Given the description of an element on the screen output the (x, y) to click on. 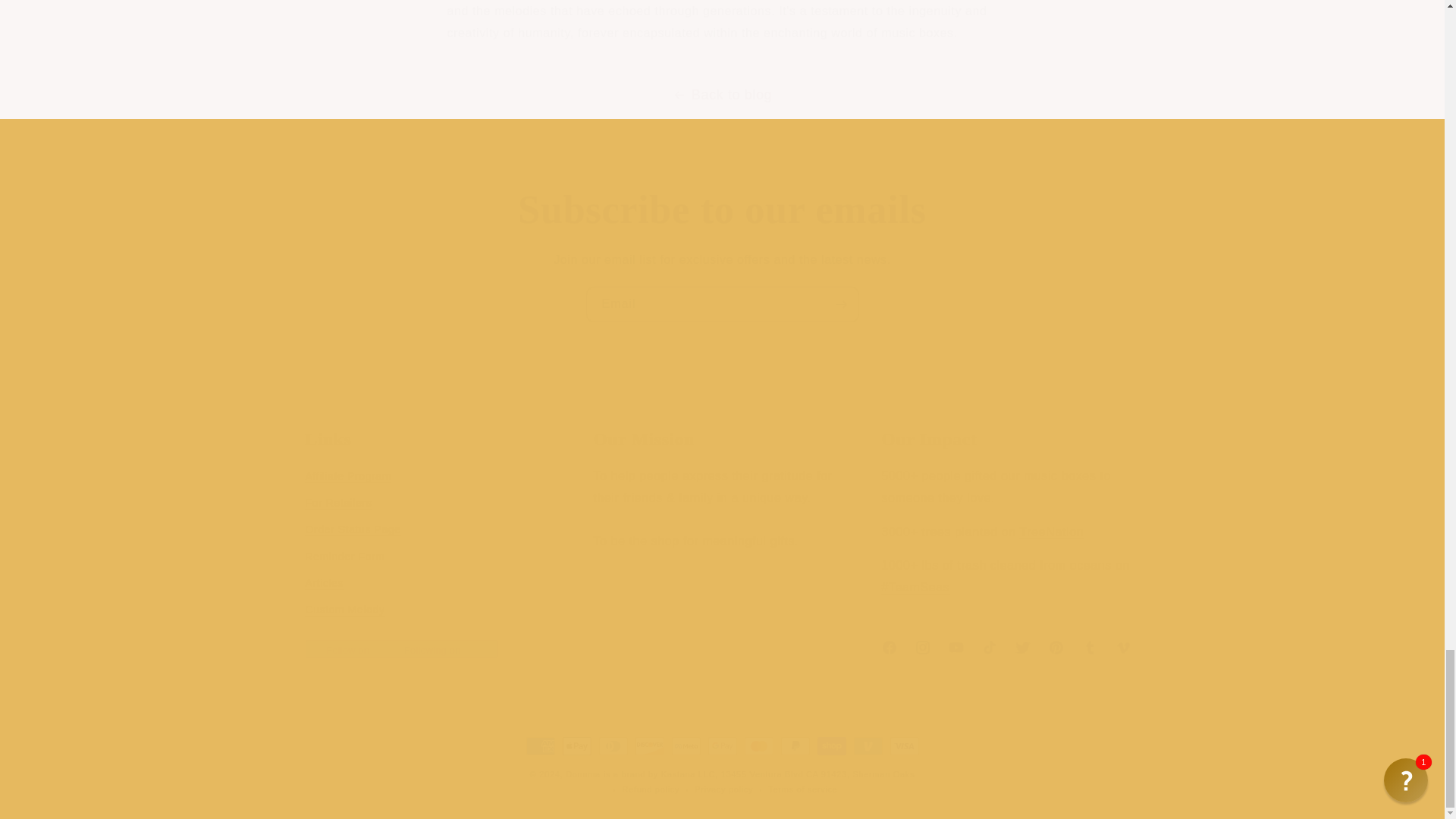
Email (722, 304)
Subscribe to our emails (721, 209)
For Retailers (337, 502)
Donuma Forest (1052, 531)
Order Status Page (352, 529)
Donuma Team Seas Profile (914, 586)
Affiliate Program (347, 477)
